Given the description of an element on the screen output the (x, y) to click on. 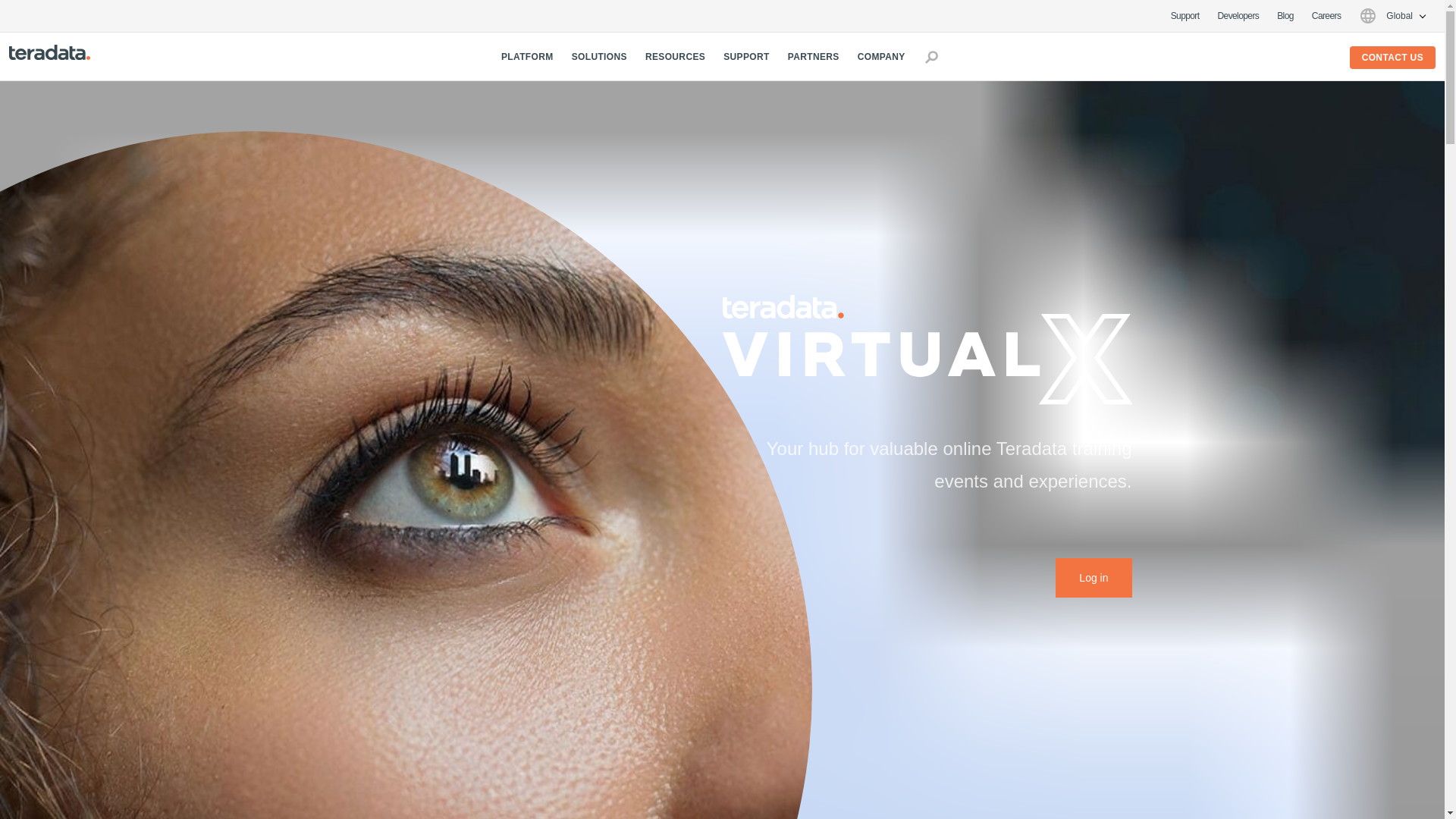
RESOURCES (674, 55)
Careers (1325, 15)
COMPANY (881, 55)
Teradata VirtualX logo (926, 349)
PARTNERS (813, 55)
Global (1392, 15)
Blog (1285, 15)
Support (1184, 15)
CONTACT US (1392, 56)
Developers (1238, 15)
